Given the description of an element on the screen output the (x, y) to click on. 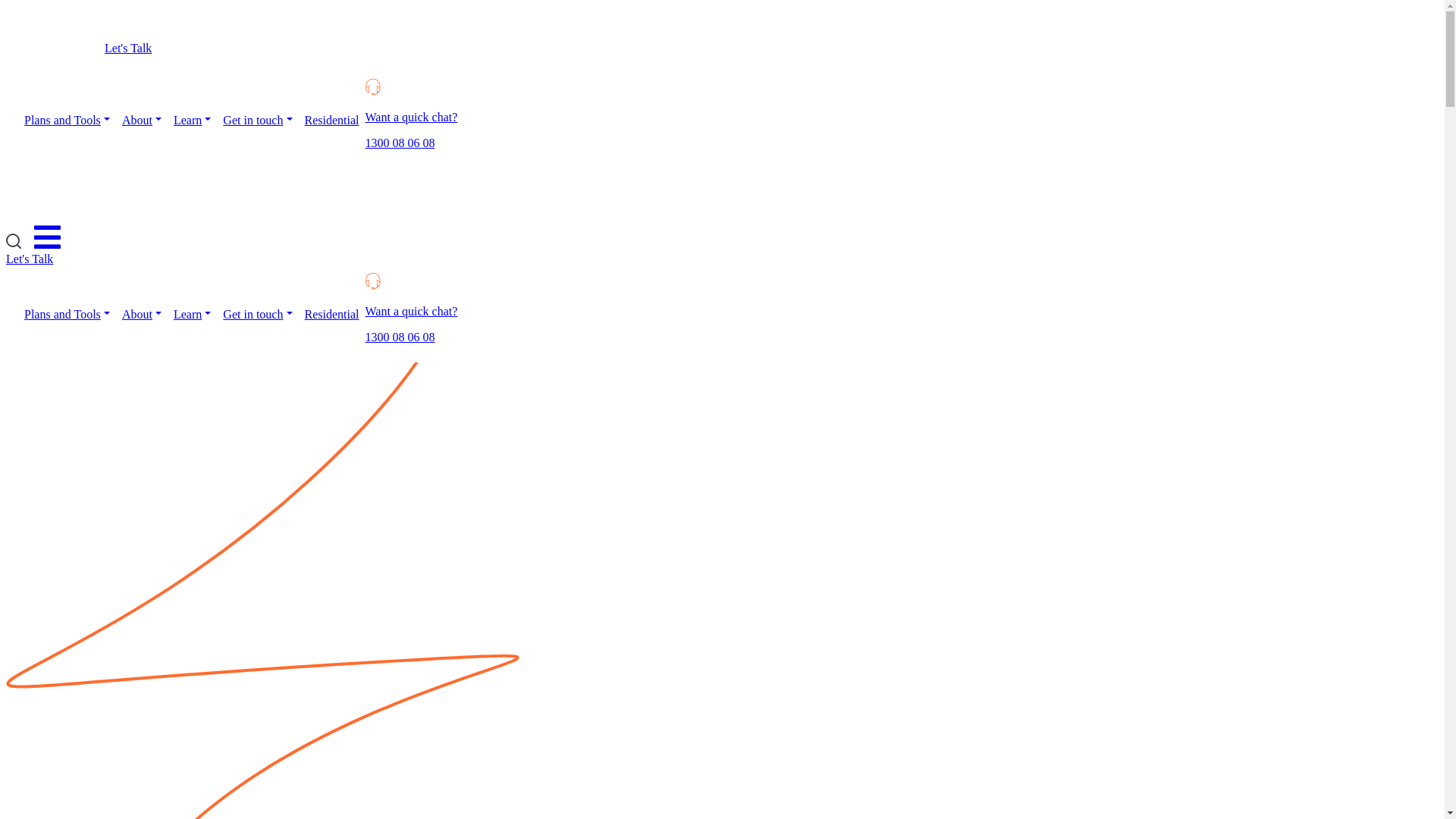
Plans and Tools Element type: text (67, 314)
About Element type: text (141, 120)
Residential Element type: text (331, 120)
Learn Element type: text (191, 314)
Learn Element type: text (191, 120)
Residential Element type: text (331, 314)
Let's Talk Element type: text (127, 46)
Get in touch Element type: text (257, 314)
Skip to content Element type: text (5, 5)
Plans and Tools Element type: text (67, 120)
Get in touch Element type: text (257, 120)
Want a quick chat?
1300 08 06 08 Element type: text (411, 117)
Want a quick chat?
1300 08 06 08 Element type: text (411, 311)
About Element type: text (141, 314)
Let's Talk Element type: text (29, 258)
